Given the description of an element on the screen output the (x, y) to click on. 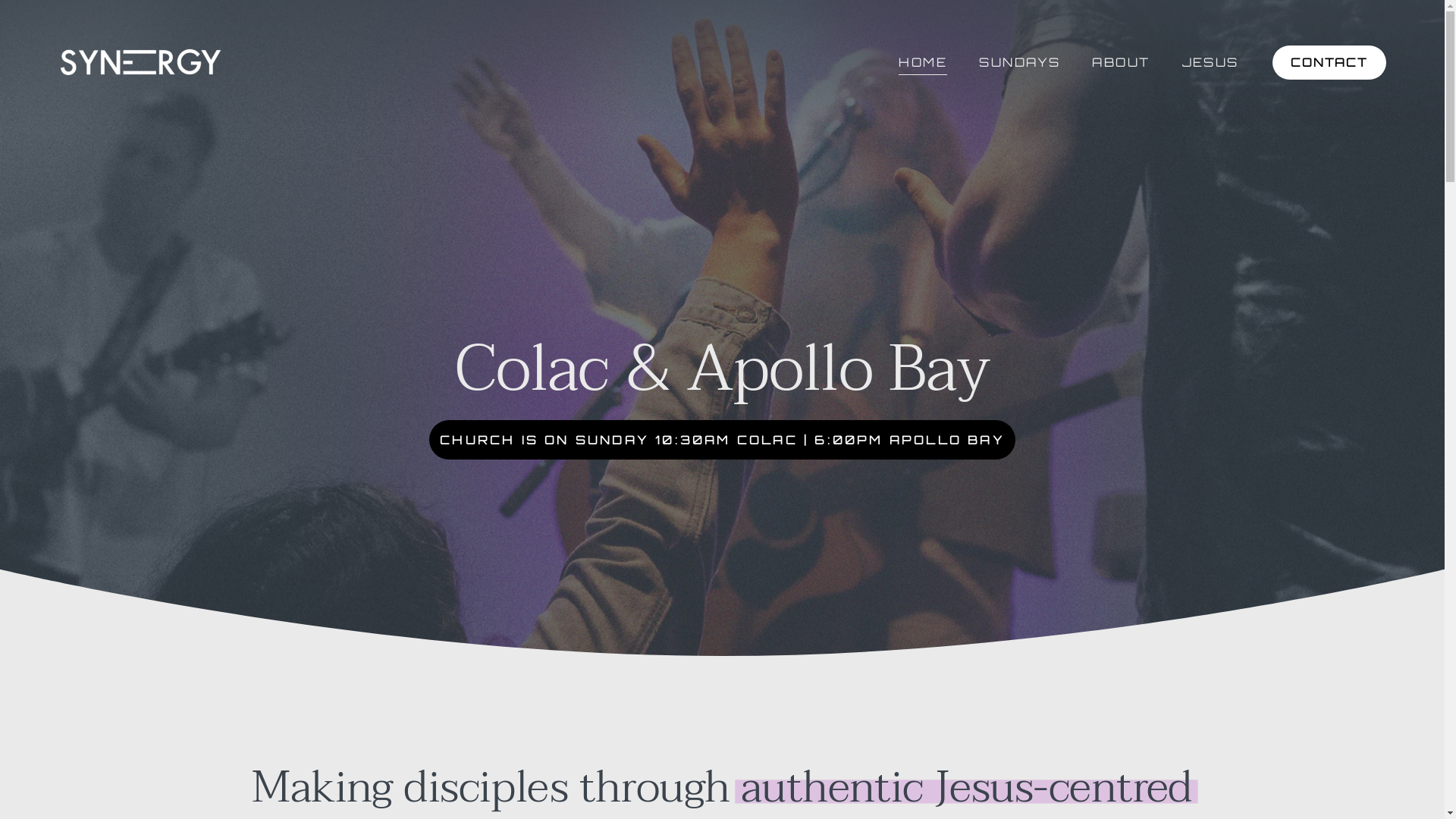
CHURCH IS ON SUNDAY 10:30AM COLAC | 6:00PM APOLLO BAY Element type: text (722, 439)
SUNDAYS Element type: text (1019, 62)
HOME Element type: text (922, 62)
ABOUT Element type: text (1120, 62)
JESUS Element type: text (1210, 62)
CONTACT Element type: text (1329, 62)
